Given the description of an element on the screen output the (x, y) to click on. 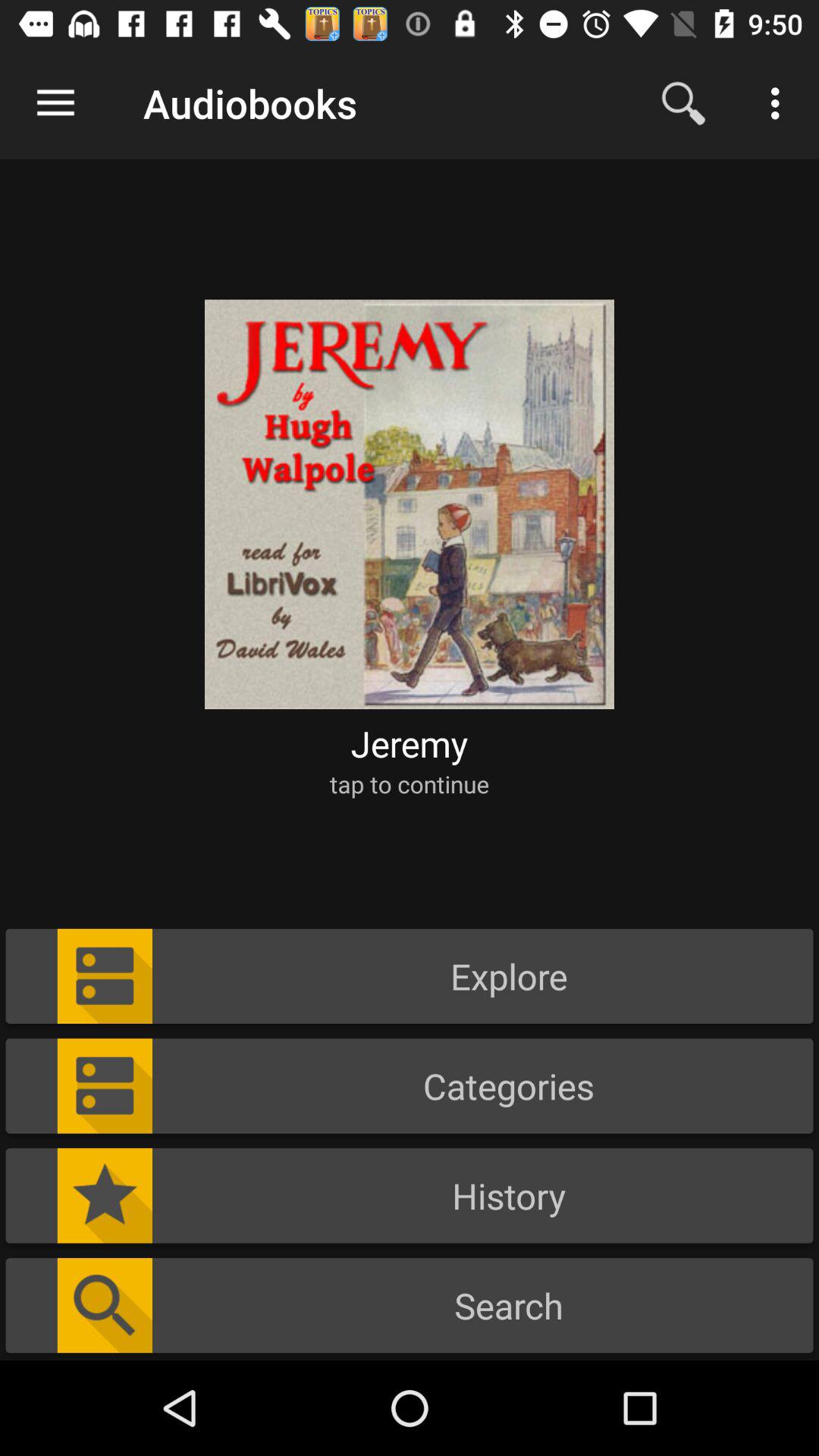
turn off the item to the left of the audiobooks (55, 103)
